Given the description of an element on the screen output the (x, y) to click on. 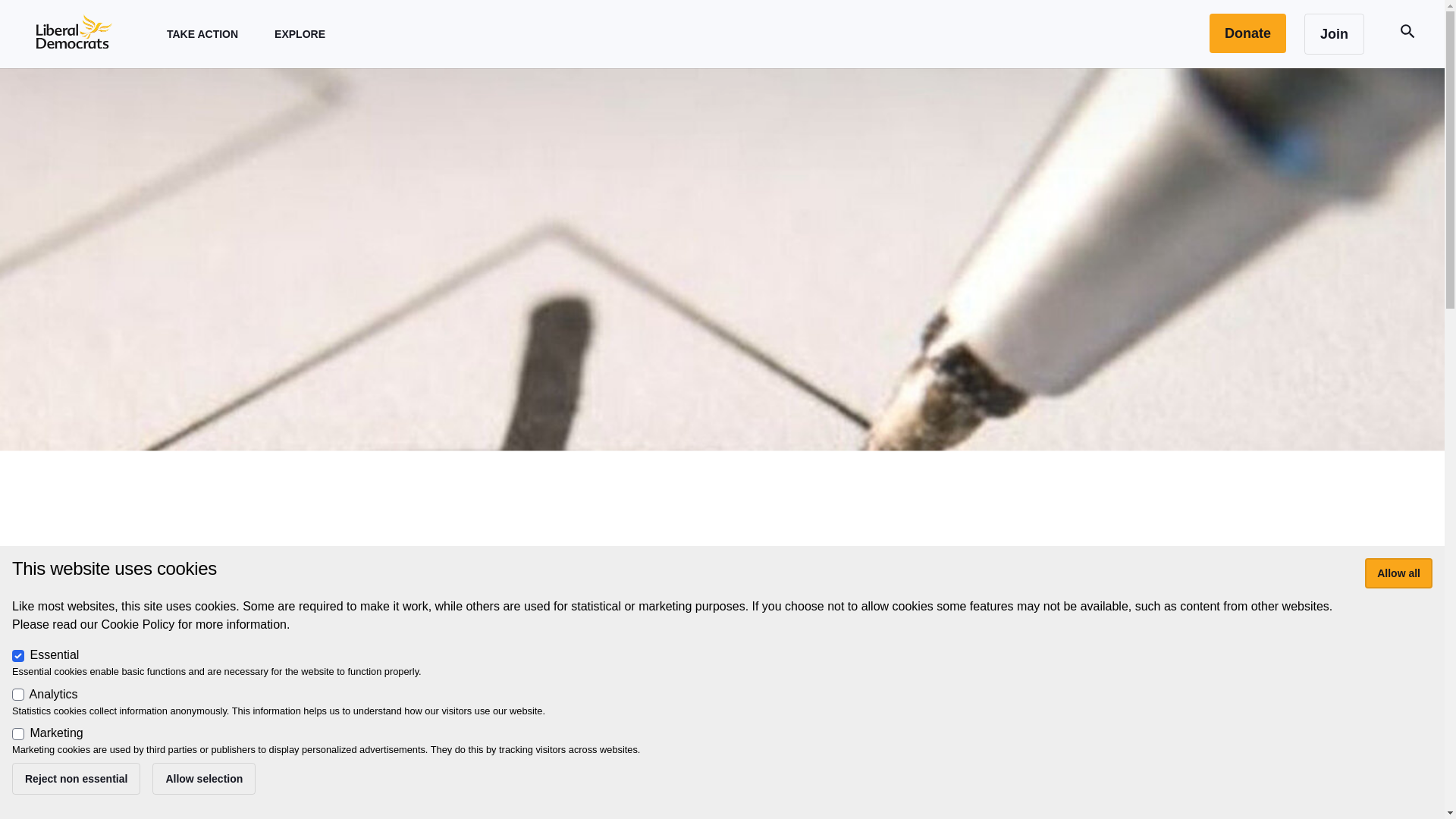
EXPLORE (299, 33)
TAKE ACTION (202, 33)
Reject non essential (75, 778)
1 (17, 655)
Donate (1247, 33)
Join (1334, 33)
Allow selection (204, 778)
1 (17, 734)
1 (17, 694)
Allow all (1398, 572)
